Given the description of an element on the screen output the (x, y) to click on. 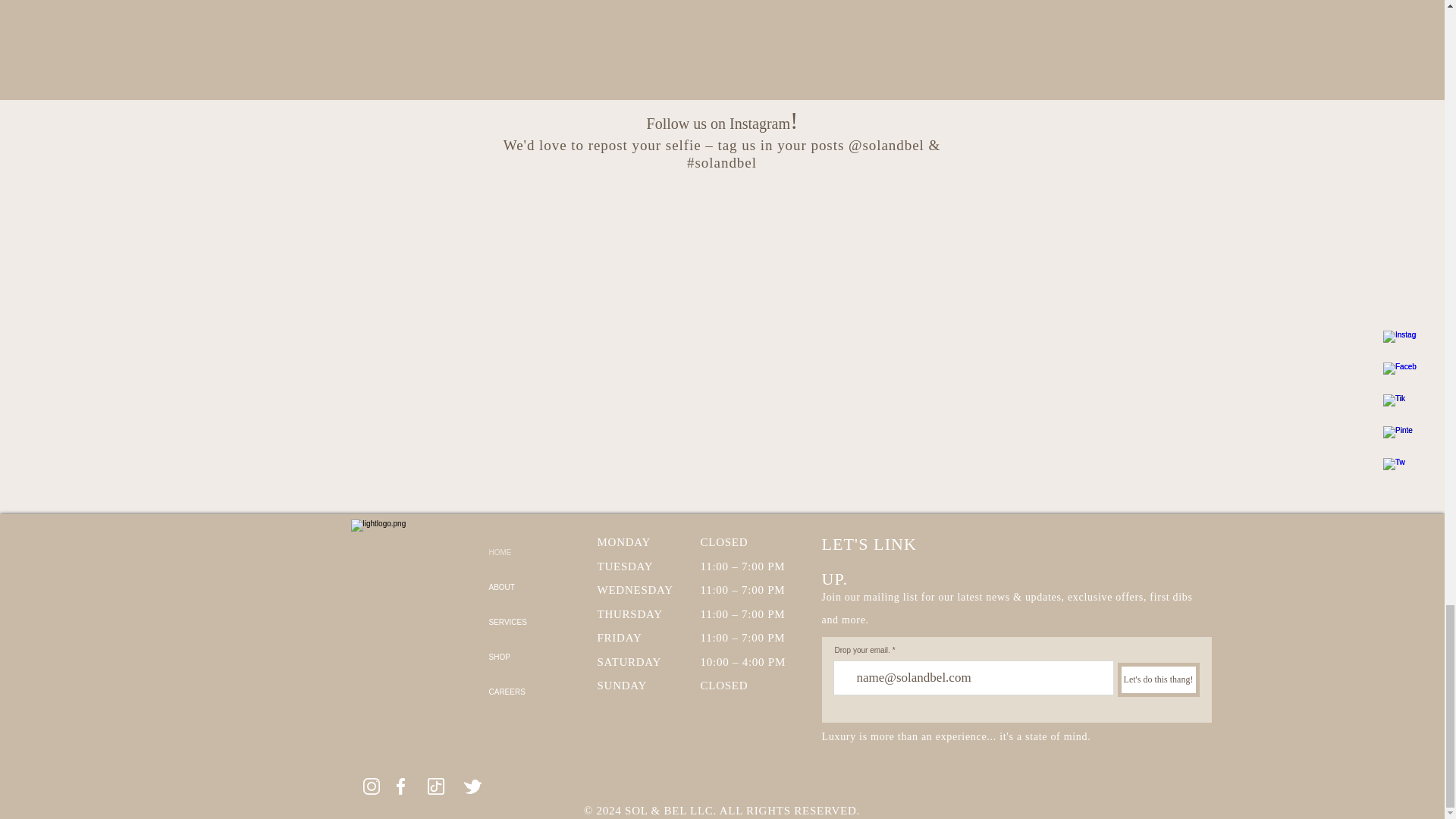
HOME (514, 552)
